Given the description of an element on the screen output the (x, y) to click on. 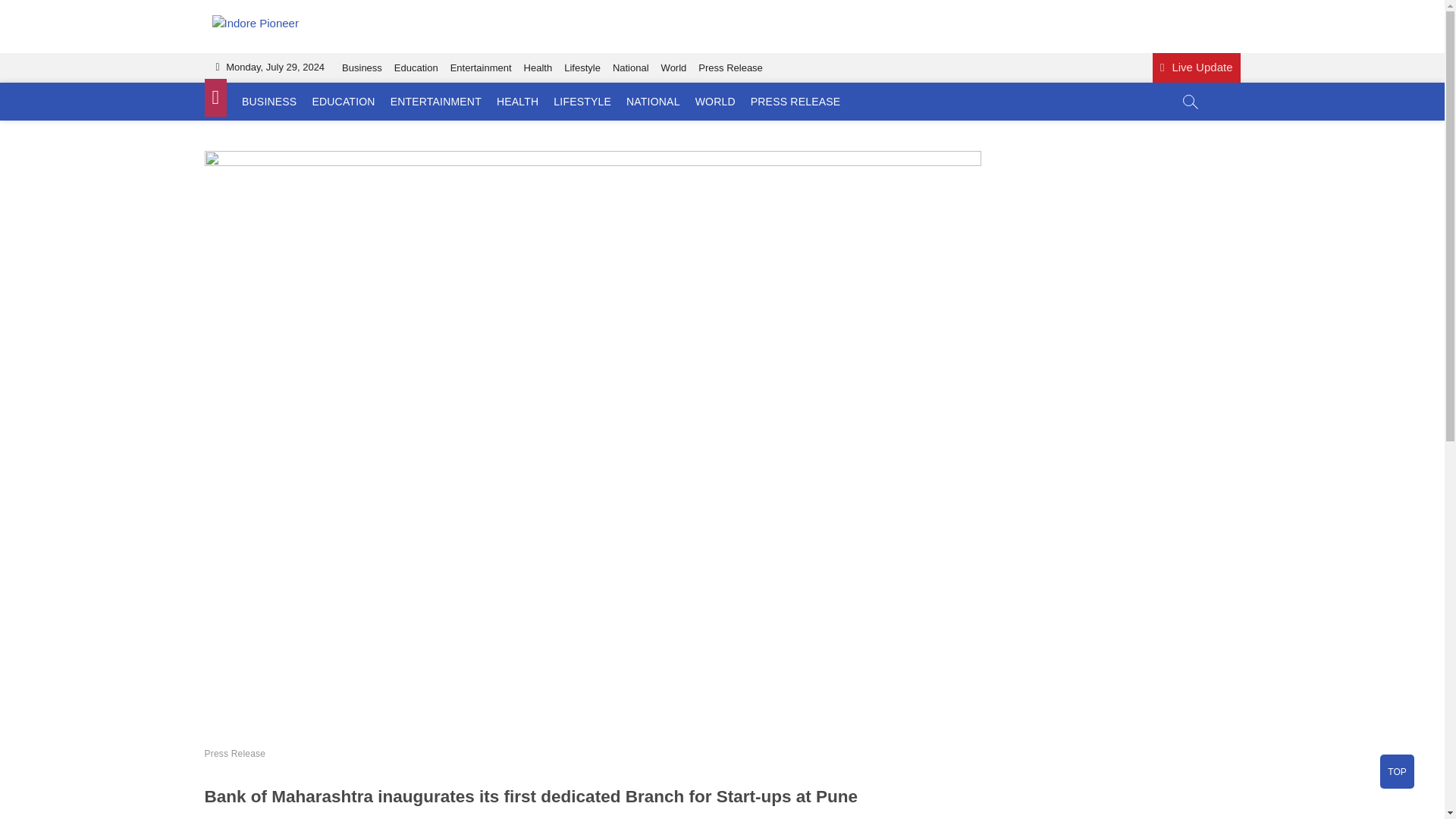
EDUCATION (342, 101)
Press Release (730, 67)
PRESS RELEASE (795, 101)
Indore Pioneer (387, 42)
World (674, 67)
Education (416, 67)
Entertainment (481, 67)
Live Update (1196, 67)
Health (538, 67)
LIFESTYLE (582, 101)
NATIONAL (652, 101)
National (631, 67)
Indore Pioneer (387, 42)
Press Release (235, 753)
BUSINESS (269, 101)
